Given the description of an element on the screen output the (x, y) to click on. 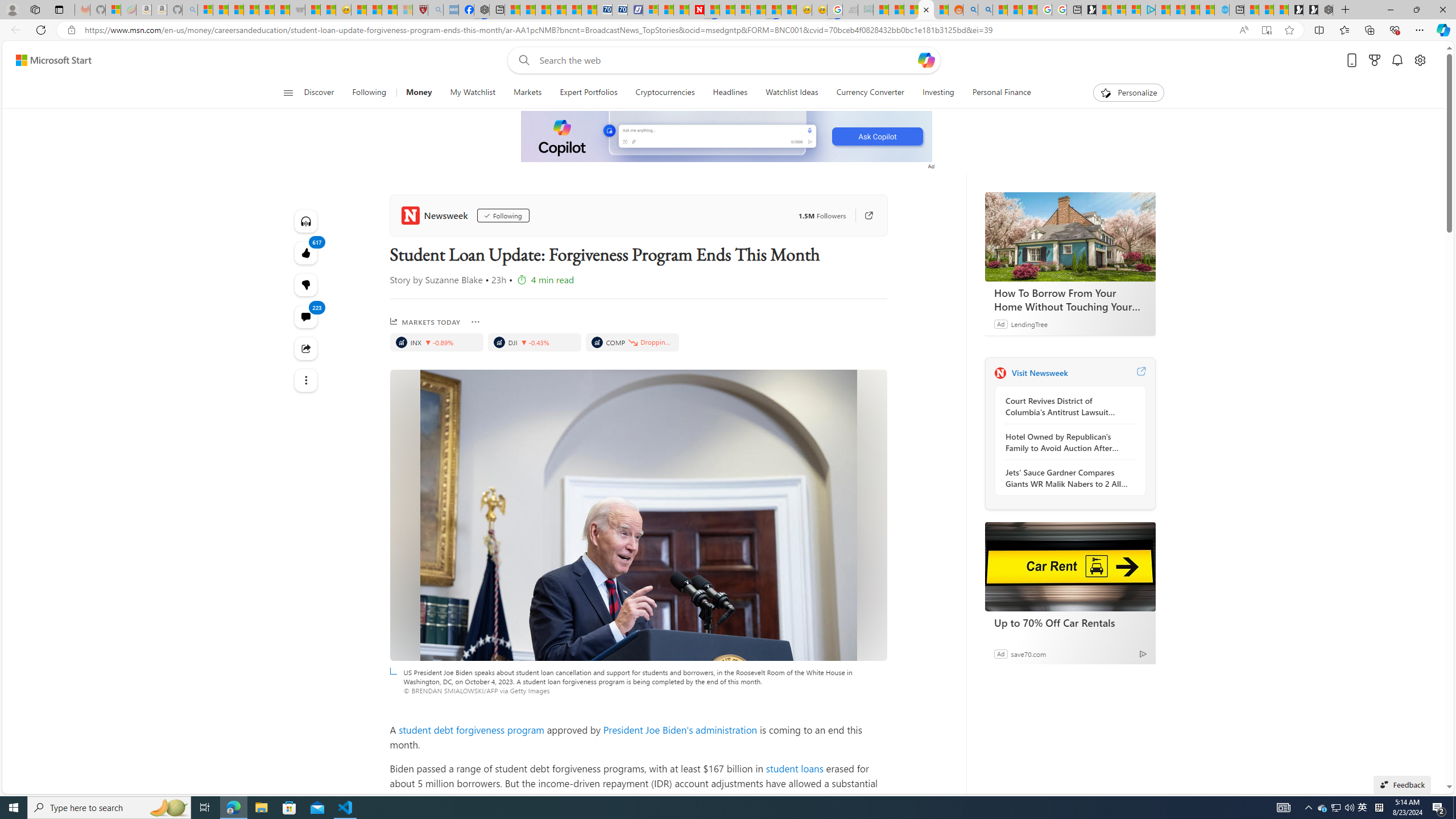
Student Loan Update: Forgiveness Program Ends This Month (926, 9)
COMP, NASDAQ. Price is 17,619.35. Decreased by -1.67% (631, 342)
